Given the description of an element on the screen output the (x, y) to click on. 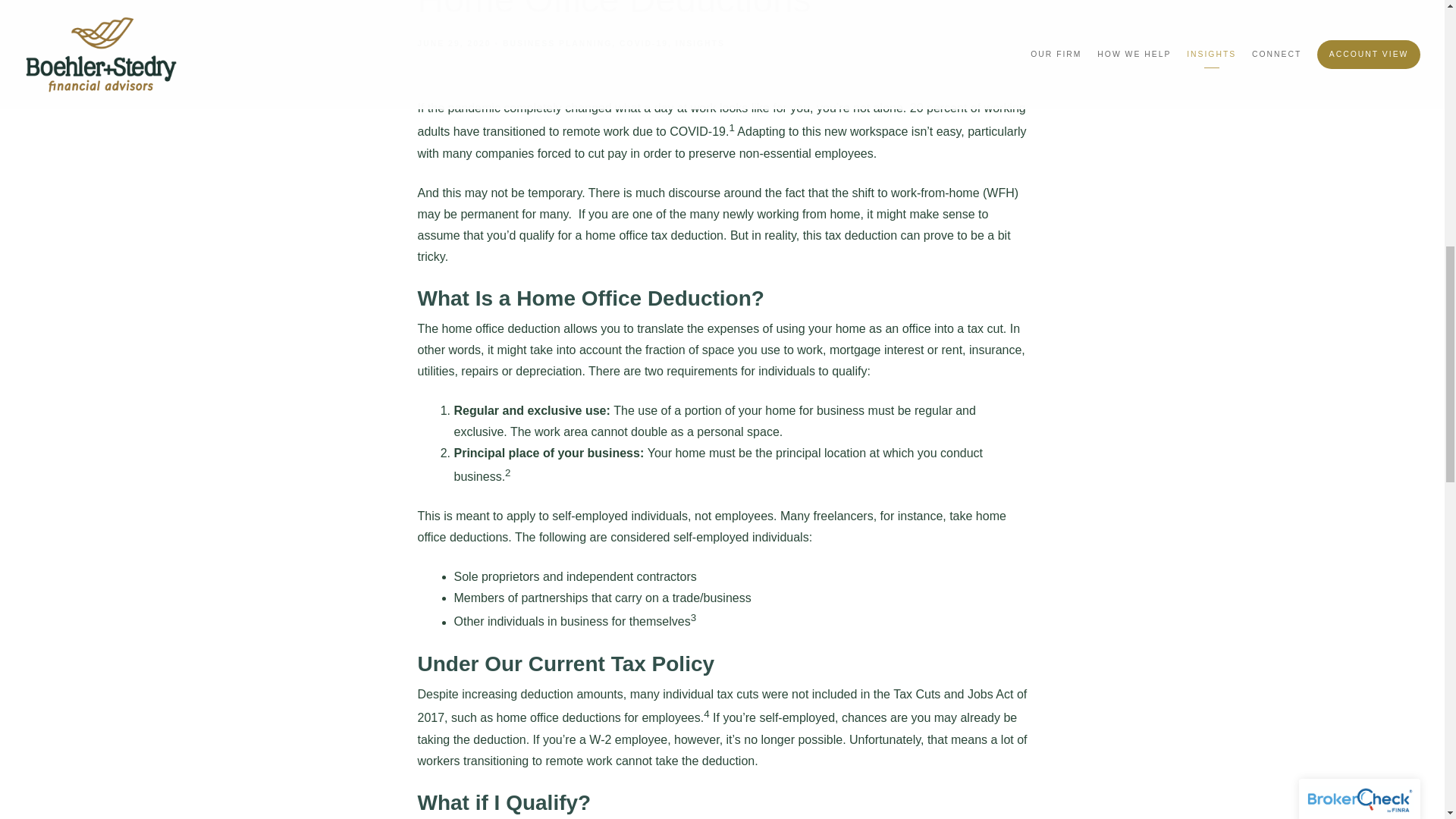
COVID-19 (644, 43)
BUSINESS PLANNING (556, 43)
INSIGHTS (700, 43)
